Given the description of an element on the screen output the (x, y) to click on. 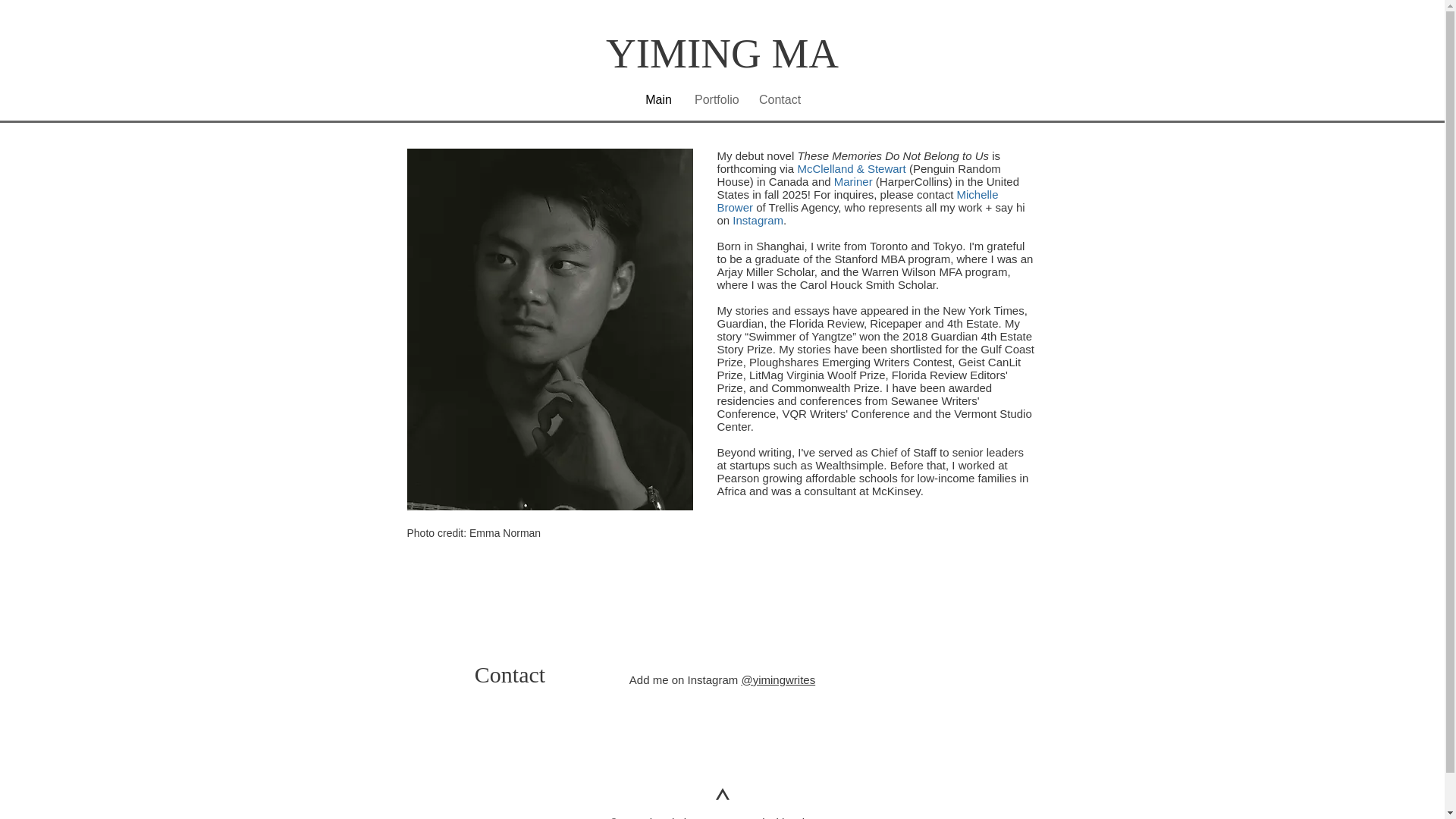
Michelle Brower (857, 200)
Wix.com (813, 817)
Instagram (757, 219)
Portfolio (715, 98)
Mariner (853, 180)
Contact (779, 98)
Main (657, 98)
